Given the description of an element on the screen output the (x, y) to click on. 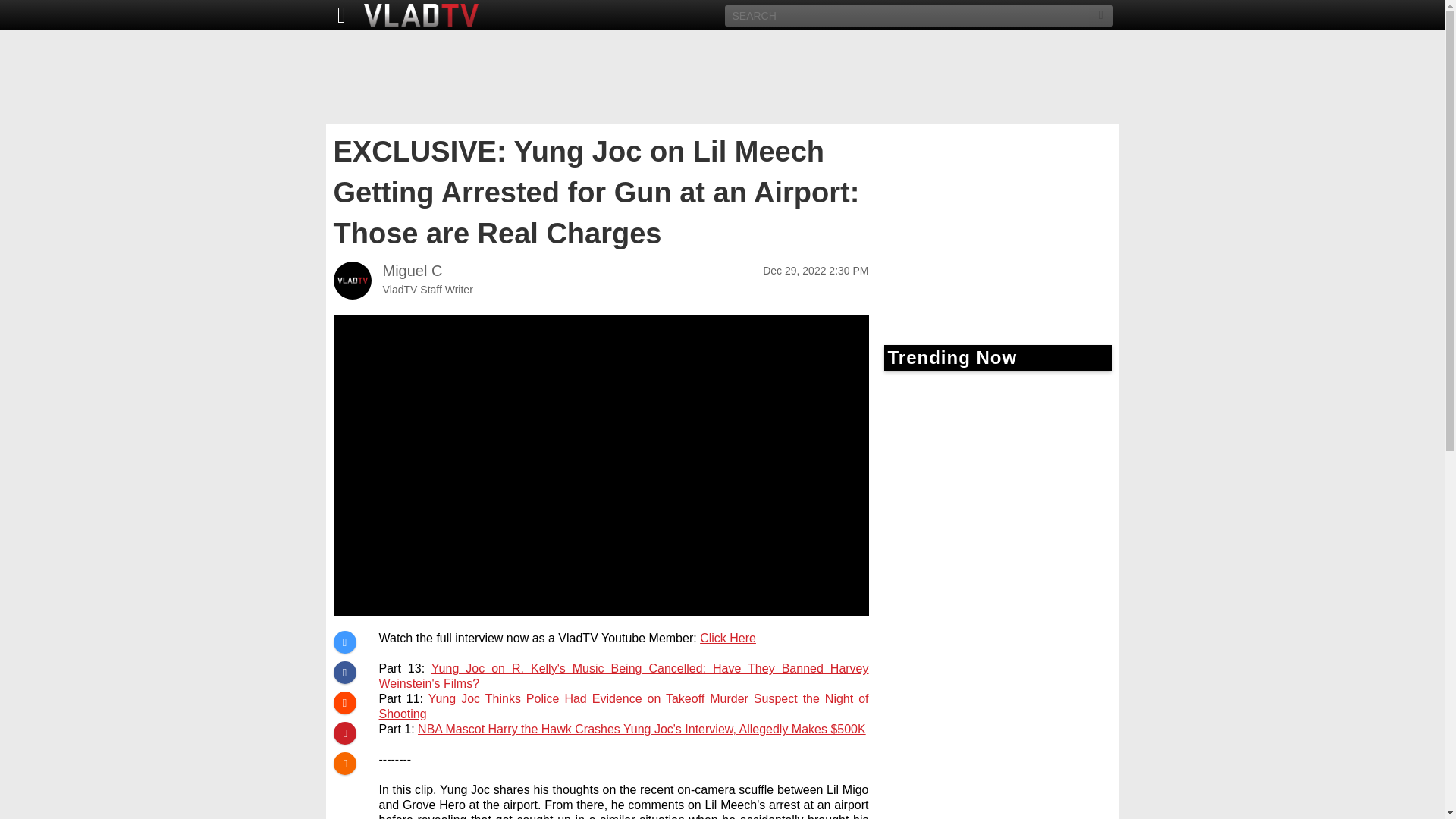
Icon: Post To Reddit (344, 702)
Search Articles (1101, 14)
Icon: Post To Pinterest (344, 732)
Back To Homepage (337, 15)
Icon: Post To Twitter (344, 641)
Click Here (727, 637)
Icon: Email Link To Article (344, 763)
Icon: Post To Facebook (344, 671)
